Given the description of an element on the screen output the (x, y) to click on. 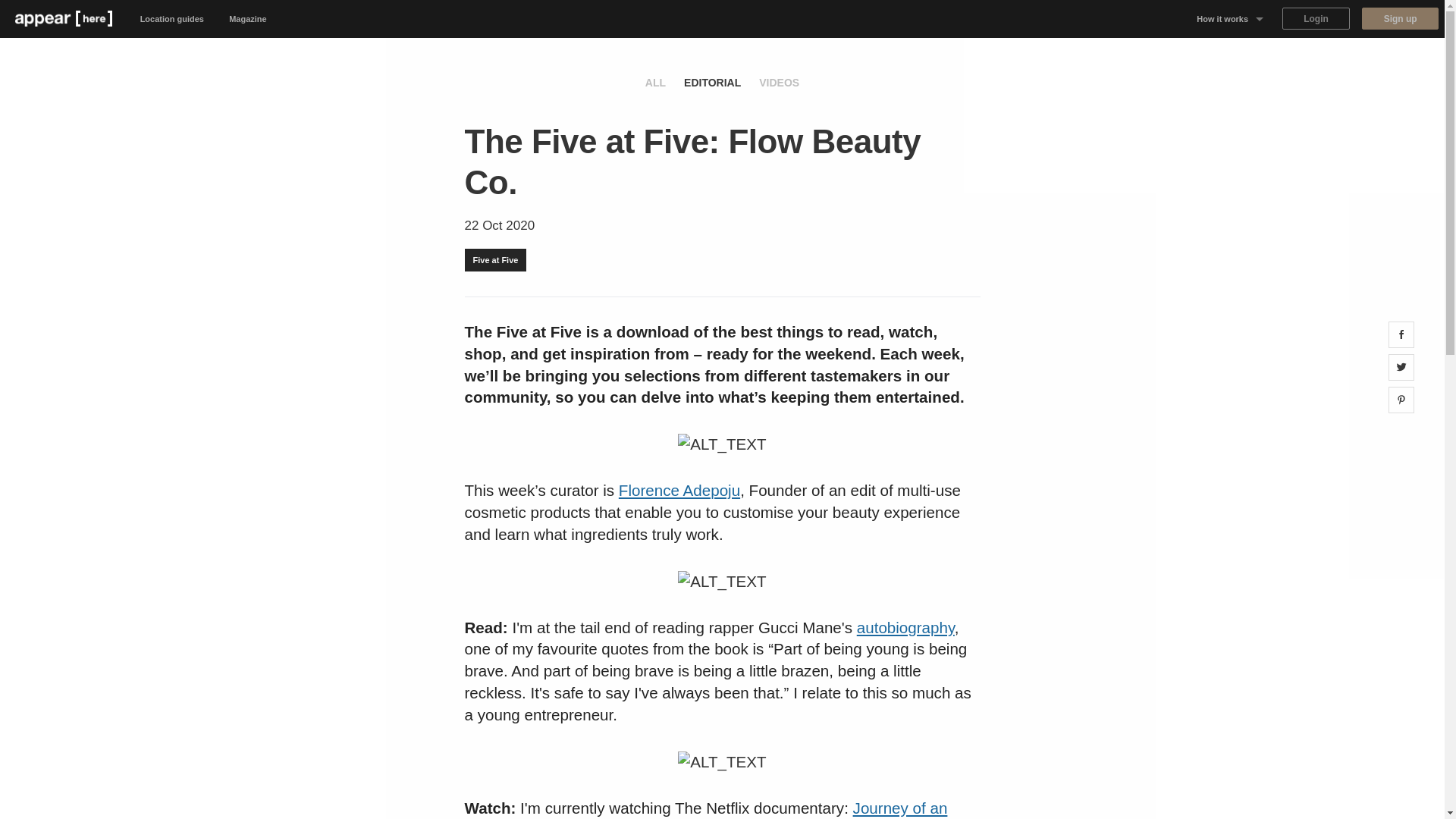
Location guides (172, 18)
How it works (1230, 18)
Magazine (247, 18)
Why Appear Here (1230, 56)
